Given the description of an element on the screen output the (x, y) to click on. 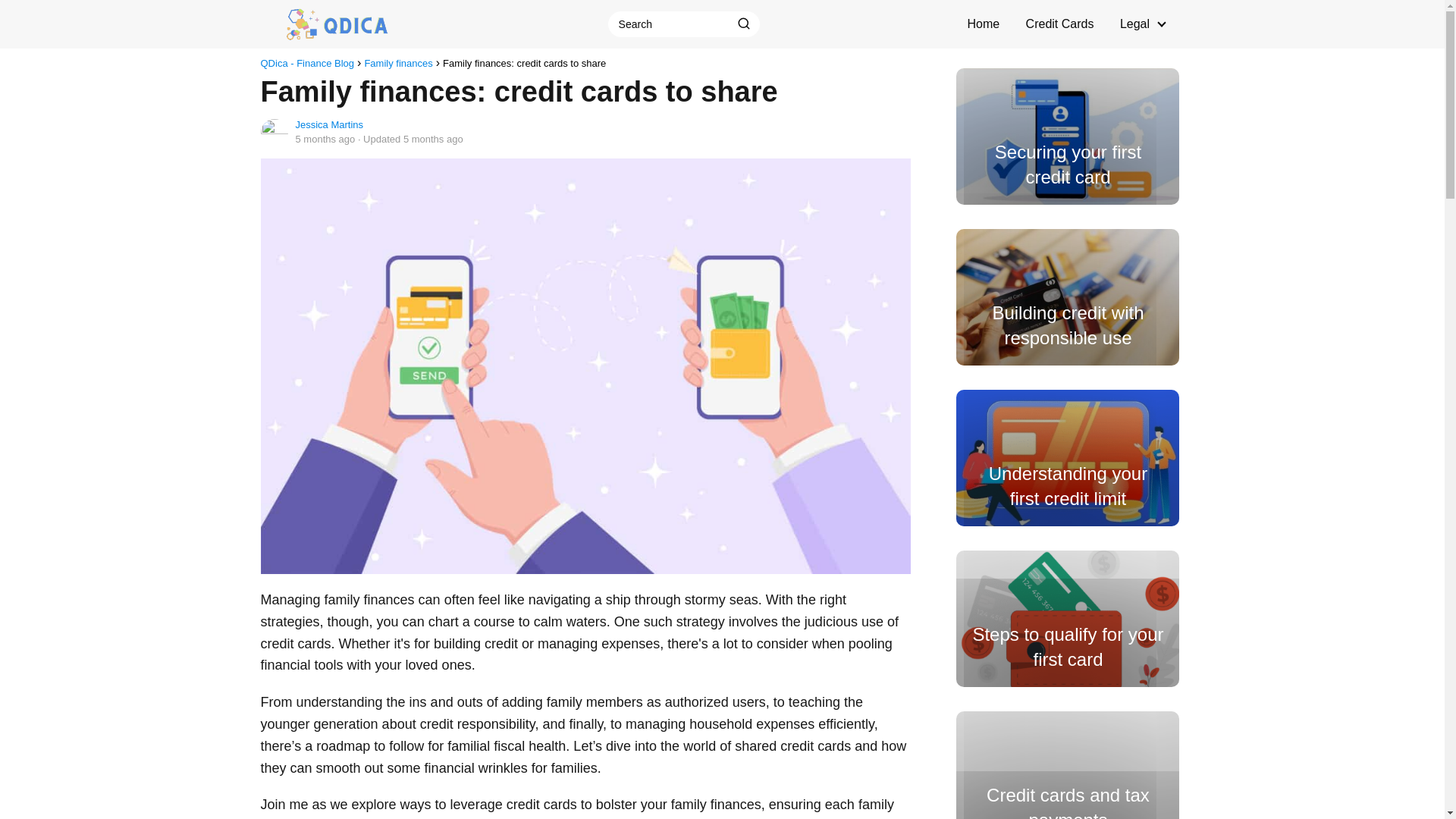
Family finances (398, 62)
Securing your first credit card (1067, 135)
Credit cards and tax payments (1067, 765)
Steps to qualify for your first card (1067, 618)
QDica - Finance Blog (307, 62)
Home (982, 23)
Understanding your first credit limit (1067, 457)
Jessica Martins (329, 124)
Legal (1137, 23)
Credit Cards (1060, 23)
Building credit with responsible use (1067, 297)
